Given the description of an element on the screen output the (x, y) to click on. 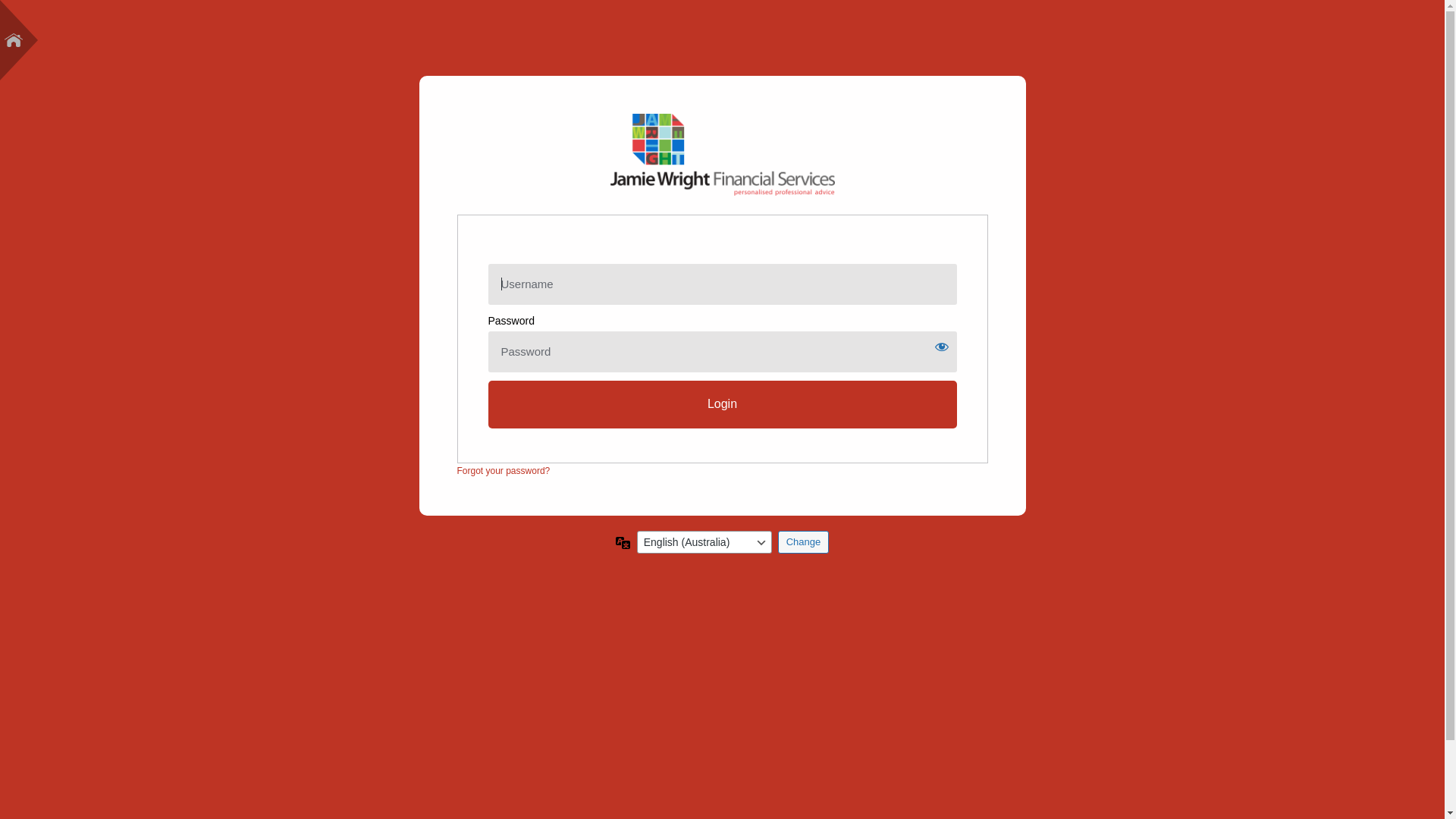
Login Element type: text (722, 404)
Powered by WordPress Element type: text (721, 154)
Forgot your password? Element type: text (502, 470)
Change Element type: text (803, 541)
